Given the description of an element on the screen output the (x, y) to click on. 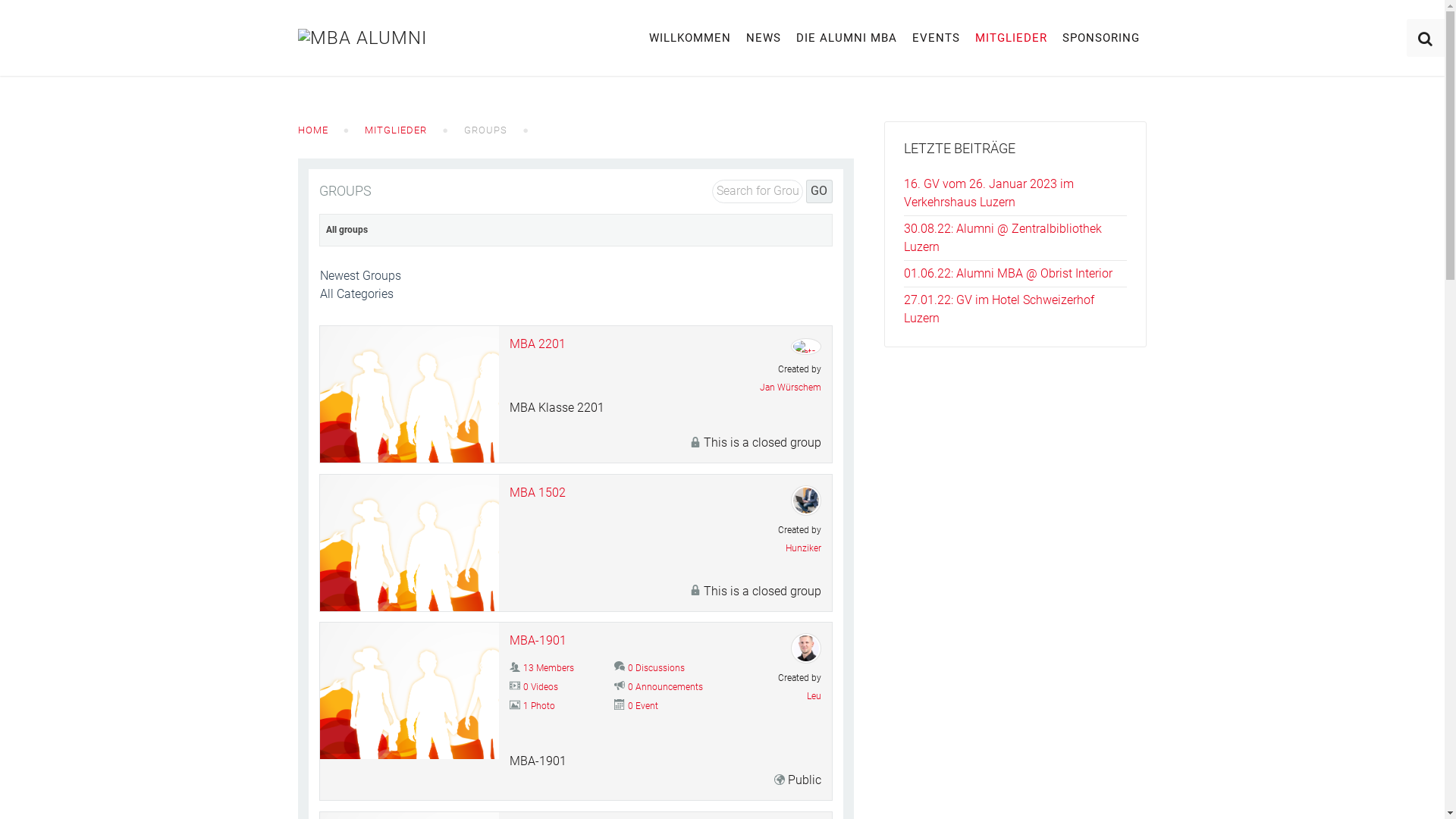
MBA-1901 Element type: text (537, 640)
16. GV vom 26. Januar 2023 im Verkehrshaus Luzern Element type: text (988, 192)
30.08.22: Alumni @ Zentralbibliothek Luzern Element type: text (1002, 237)
WILLKOMMEN Element type: text (689, 37)
Hunziker Element type: text (780, 547)
All groups Element type: text (346, 229)
NEWS Element type: text (763, 37)
01.06.22: Alumni MBA @ Obrist Interior Element type: text (1007, 273)
MITGLIEDER Element type: text (395, 130)
MBA 2201 Element type: text (537, 343)
Leu Element type: text (780, 696)
0 Event Element type: text (642, 705)
EVENTS Element type: text (934, 37)
MBA 1502 Element type: text (537, 492)
0 Announcements Element type: text (664, 686)
1 Photo Element type: text (539, 705)
13 Members Element type: text (548, 667)
27.01.22: GV im Hotel Schweizerhof Luzern Element type: text (998, 308)
MITGLIEDER Element type: text (1010, 37)
0 Discussions Element type: text (655, 667)
HOME Element type: text (312, 130)
GO Element type: text (819, 191)
0 Videos Element type: text (540, 686)
SPONSORING Element type: text (1100, 37)
DIE ALUMNI MBA Element type: text (846, 37)
